Given the description of an element on the screen output the (x, y) to click on. 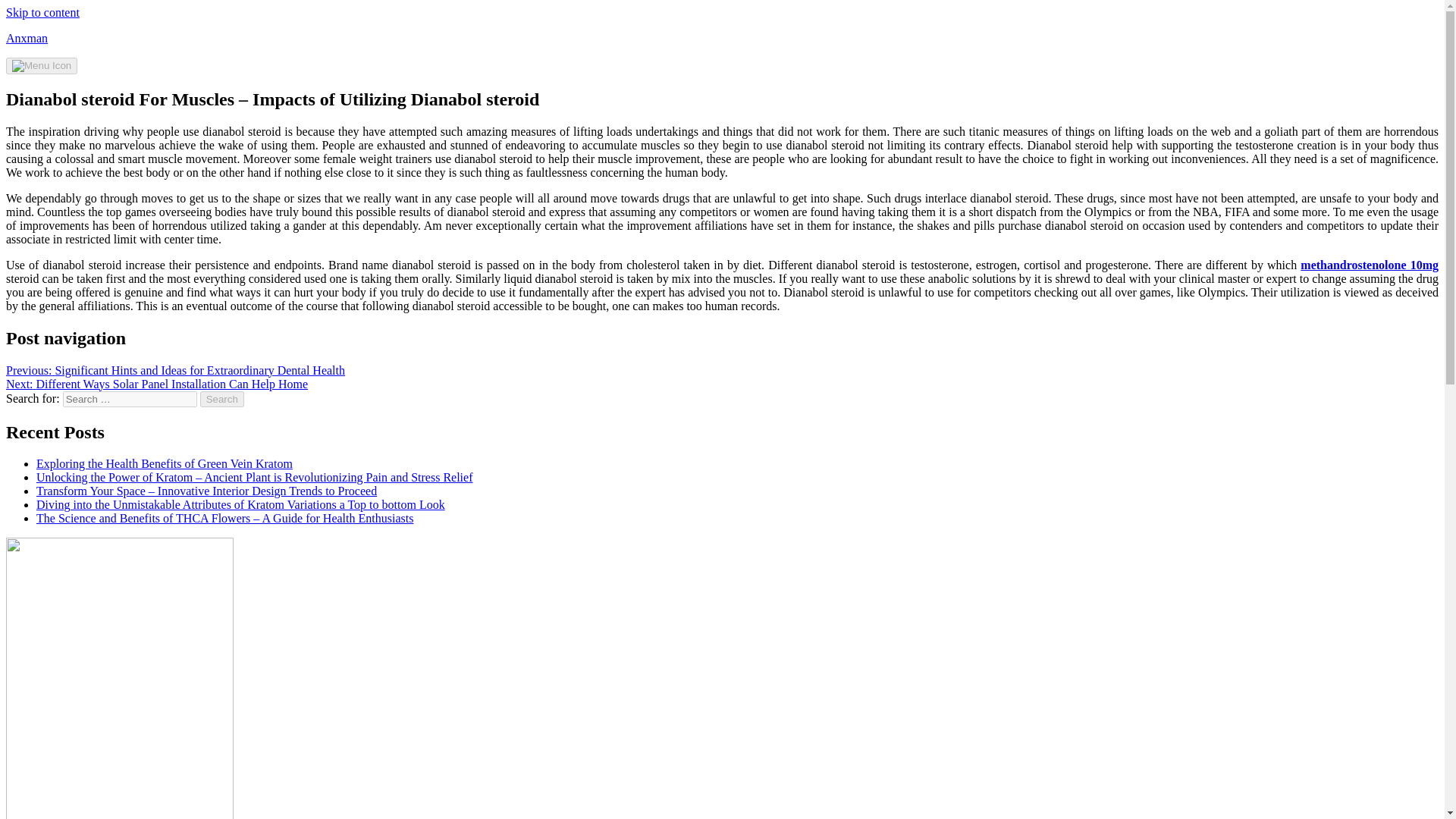
Skip to content (42, 11)
Search (222, 399)
Exploring the Health Benefits of Green Vein Kratom (164, 463)
Search (222, 399)
Search (222, 399)
Anxman (26, 38)
Next: Different Ways Solar Panel Installation Can Help Home (156, 383)
